Given the description of an element on the screen output the (x, y) to click on. 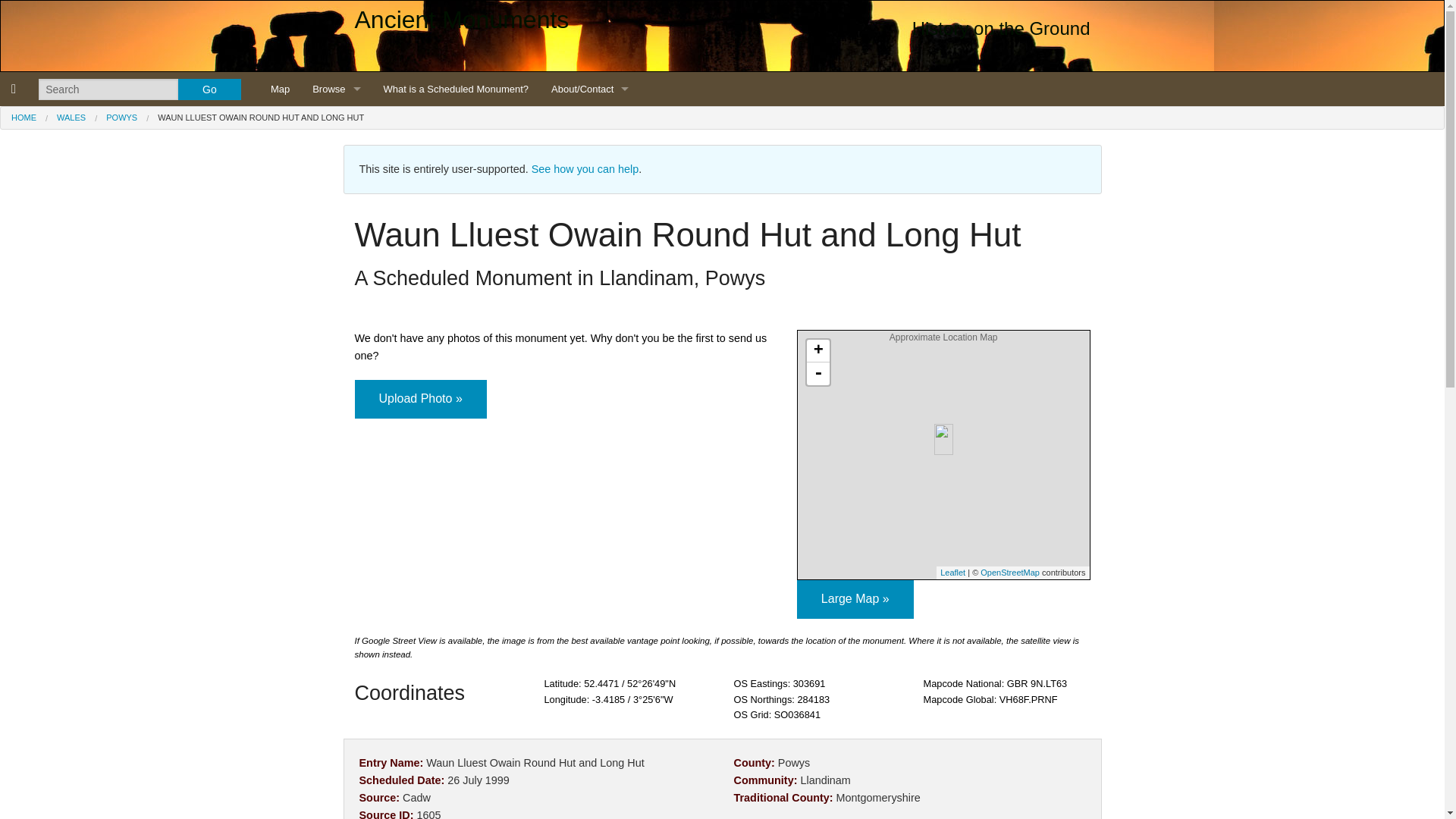
What is a Scheduled Monument? (456, 89)
Go (209, 88)
POWYS (121, 117)
England (336, 123)
Scotland (336, 157)
What's New (590, 191)
A JS library for interactive maps (952, 572)
- (817, 373)
Wales (336, 191)
Browse (336, 89)
